Given the description of an element on the screen output the (x, y) to click on. 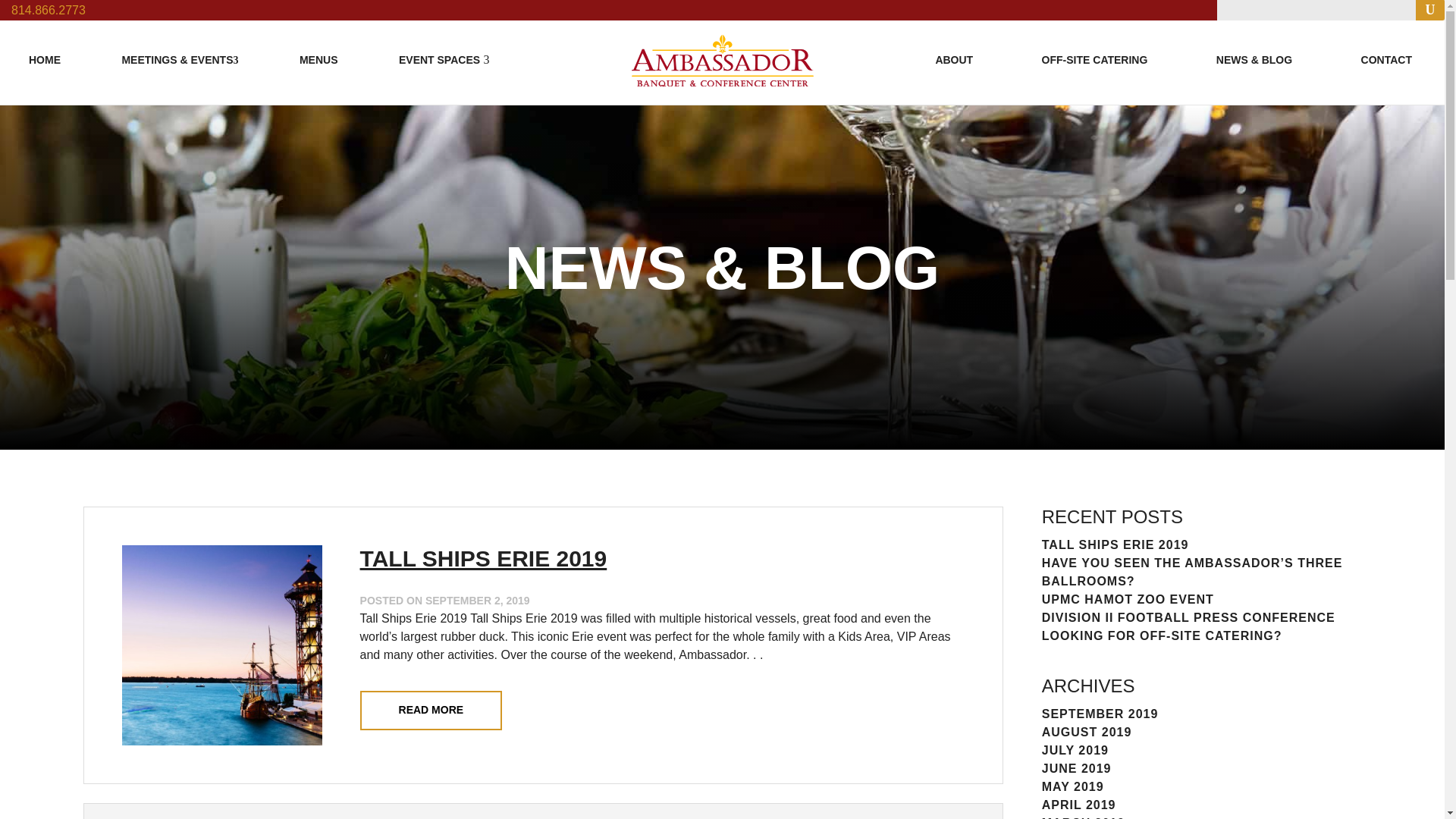
HOME (45, 60)
READ MORE (430, 710)
MENUS (318, 60)
CONTACT (1386, 60)
EVENT SPACES (439, 60)
OFF-SITE CATERING (1095, 60)
TALL SHIPS ERIE 2019 (483, 558)
ABOUT (953, 60)
